Given the description of an element on the screen output the (x, y) to click on. 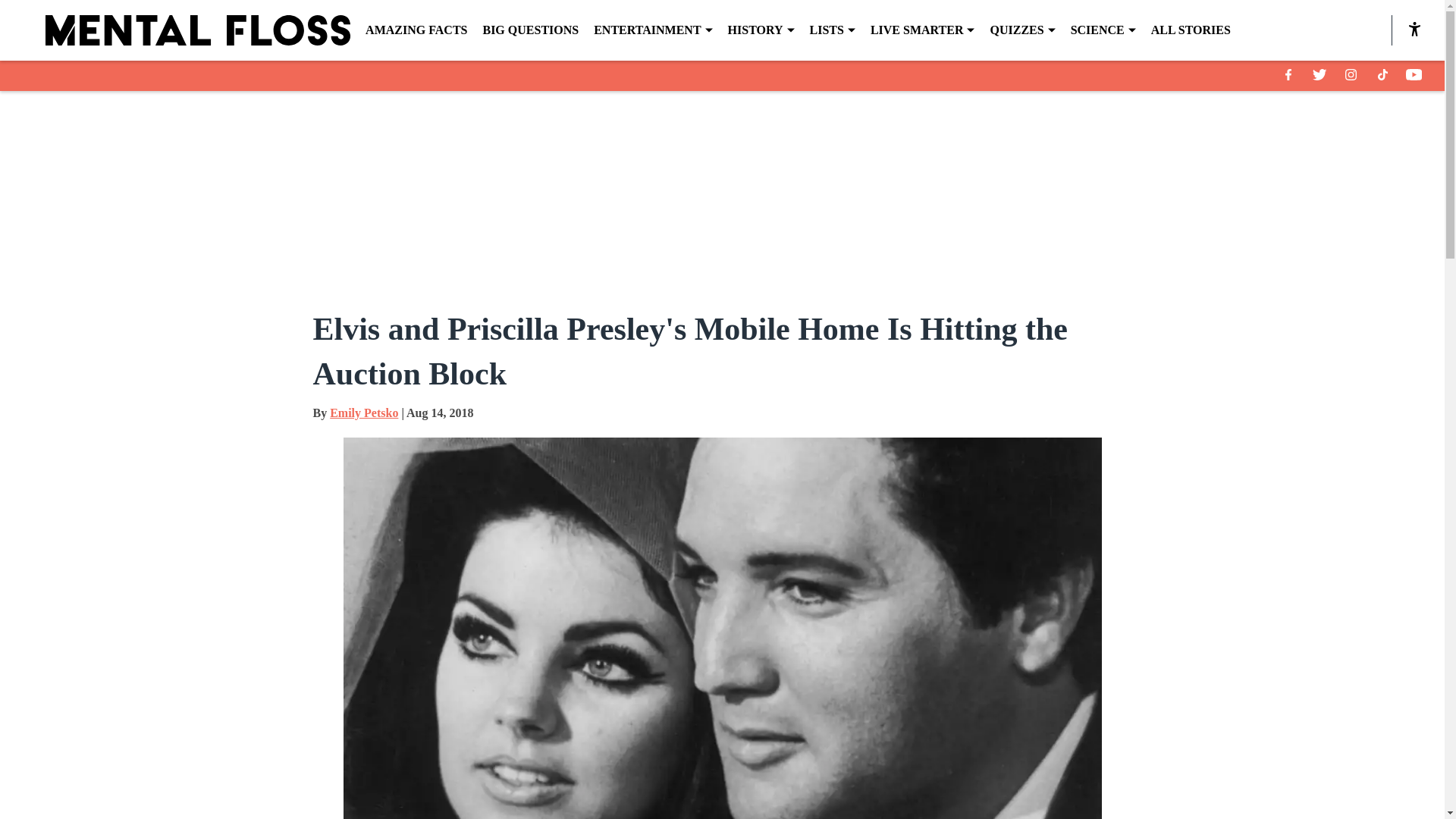
BIG QUESTIONS (529, 30)
AMAZING FACTS (416, 30)
ALL STORIES (1190, 30)
